Given the description of an element on the screen output the (x, y) to click on. 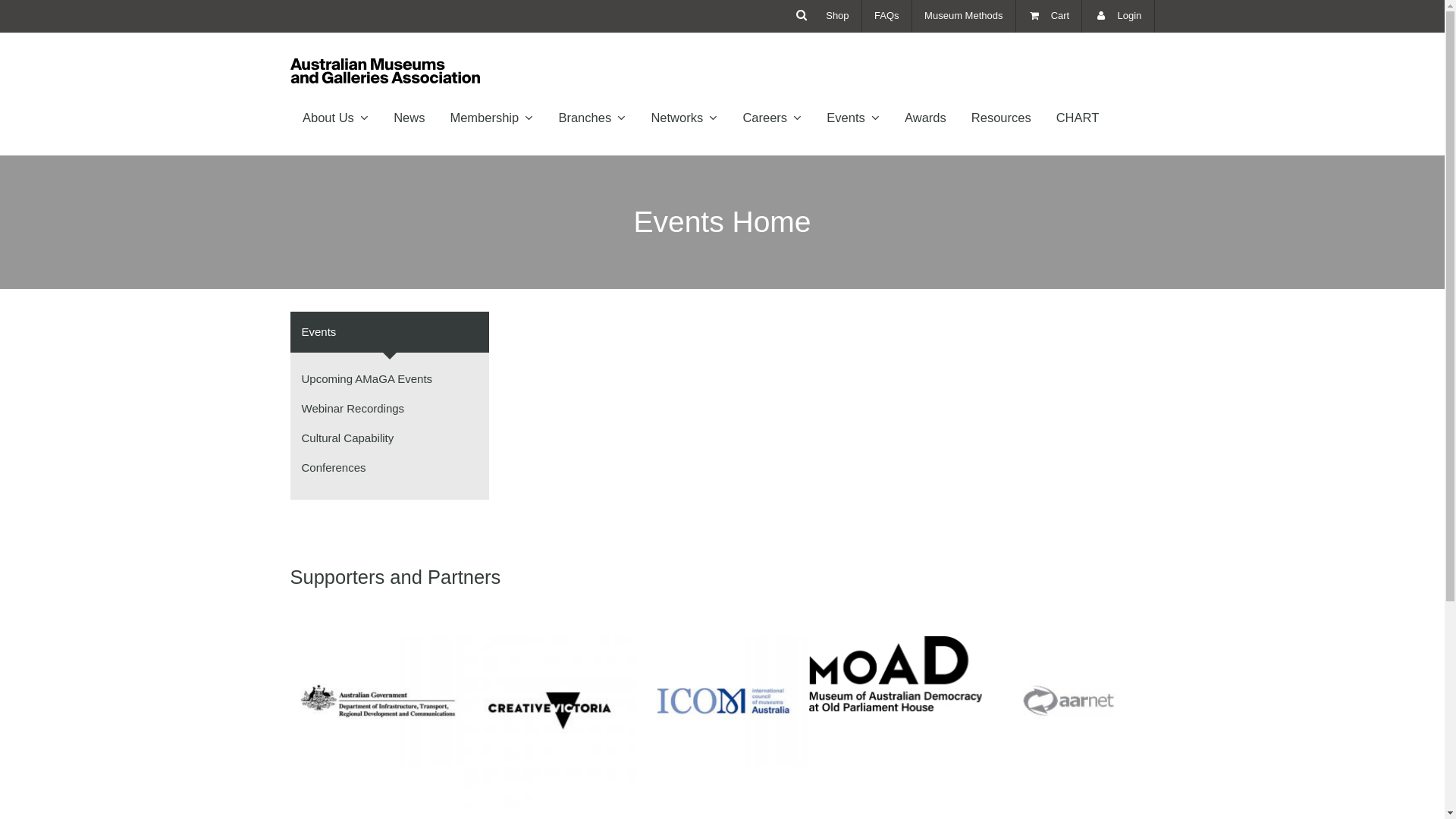
Networks Element type: text (684, 117)
About Us Element type: text (334, 117)
Branches Element type: text (592, 117)
Careers Element type: text (772, 117)
FAQs Element type: text (887, 16)
Events Element type: text (389, 332)
Conferences Element type: text (333, 467)
Cart Element type: text (1049, 16)
Toggle Search Element type: text (801, 15)
Login Element type: text (1118, 16)
Webinar Recordings Element type: text (352, 407)
Upcoming AMaGA Events Element type: text (367, 378)
Awards Element type: text (925, 117)
Events Element type: text (853, 117)
Membership Element type: text (491, 117)
News Element type: text (409, 117)
Resources Element type: text (1000, 117)
CHART Element type: text (1077, 117)
Shop Element type: text (837, 16)
Cultural Capability Element type: text (347, 437)
Museum Methods Element type: text (964, 16)
